Given the description of an element on the screen output the (x, y) to click on. 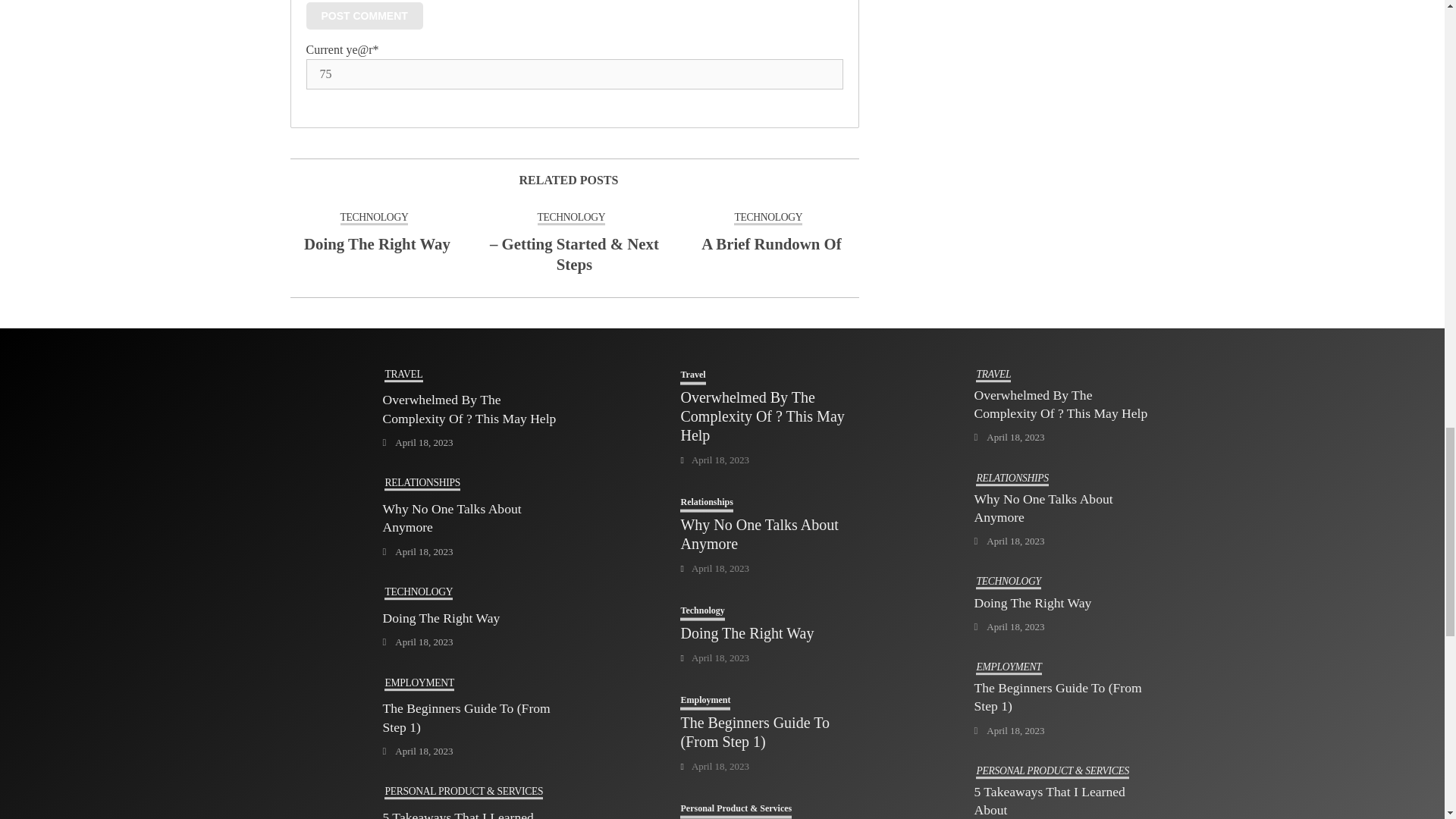
75 (574, 73)
Post Comment (364, 15)
